Given the description of an element on the screen output the (x, y) to click on. 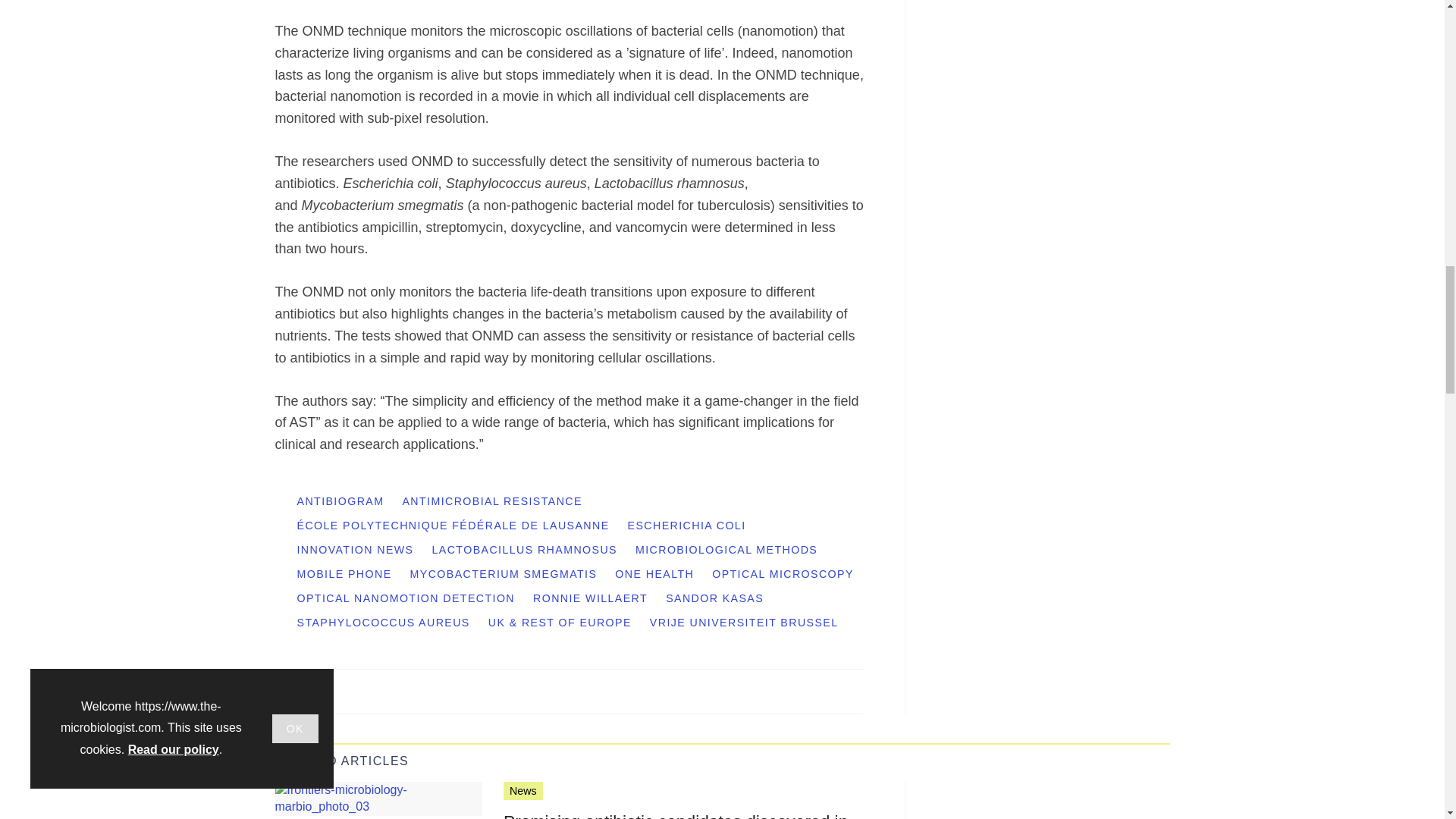
Share this on Linked in (352, 690)
Email this article (386, 690)
Share this on Facebook (288, 690)
No comments (840, 699)
Share this on Twitter (320, 690)
